Given the description of an element on the screen output the (x, y) to click on. 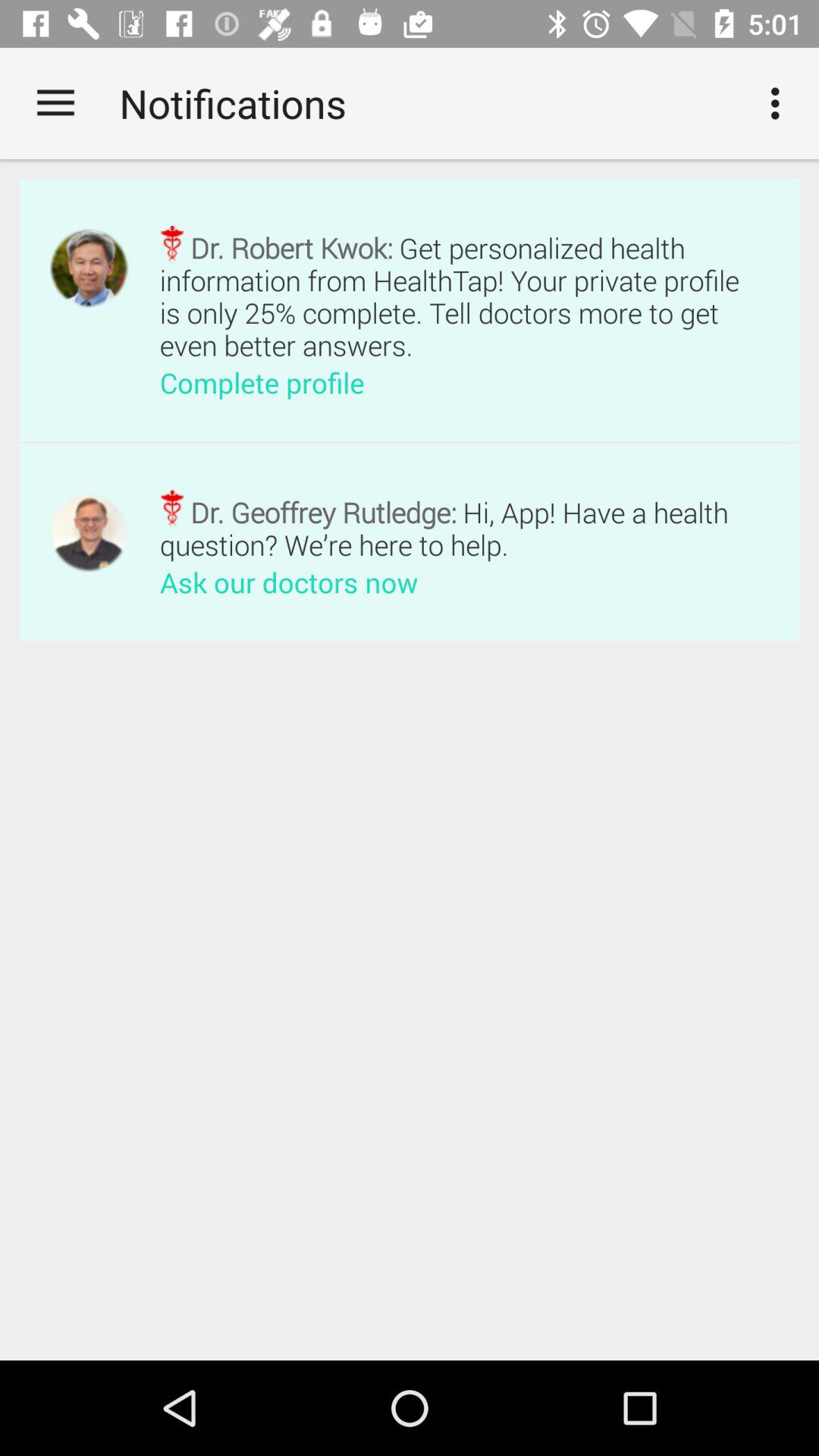
turn off icon to the right of the notifications item (779, 103)
